Given the description of an element on the screen output the (x, y) to click on. 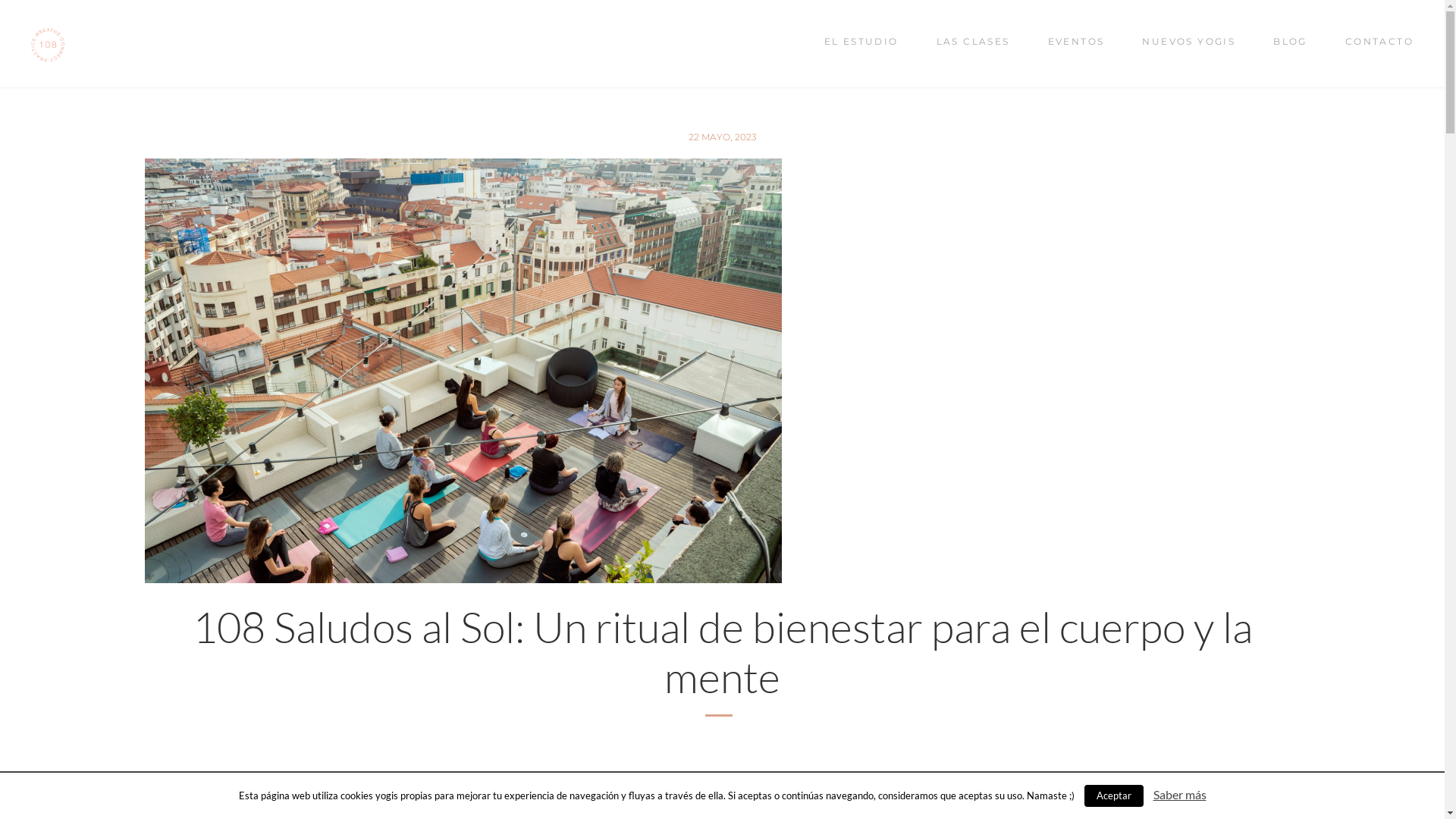
CONTACTO Element type: text (1379, 41)
EVENTOS Element type: text (1076, 41)
NUEVOS YOGIS Element type: text (1188, 41)
EL ESTUDIO Element type: text (861, 41)
LAS CLASES Element type: text (972, 41)
Aceptar Element type: text (1113, 795)
BLOG Element type: text (1290, 41)
